Given the description of an element on the screen output the (x, y) to click on. 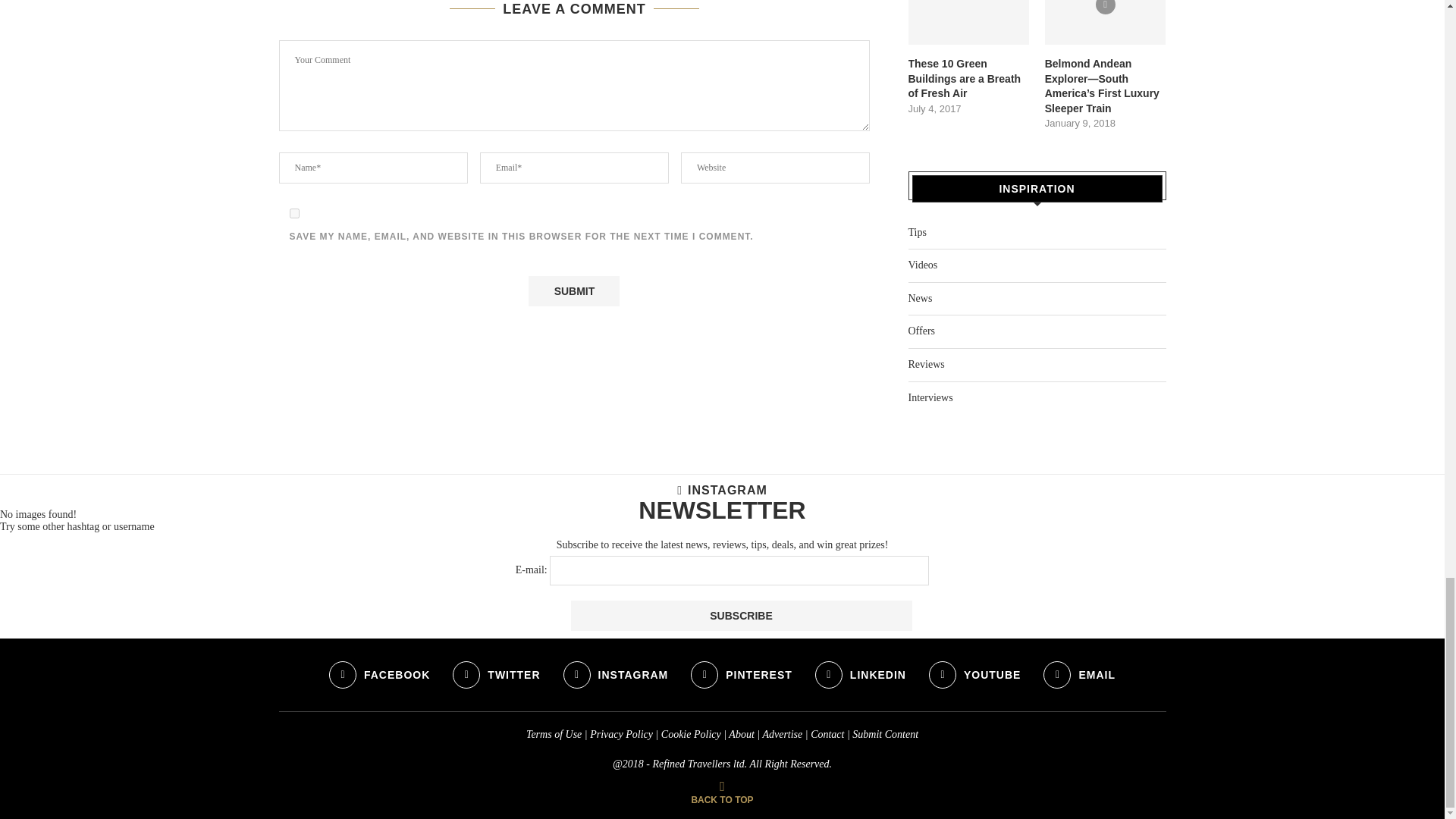
yes (294, 213)
Submit (574, 291)
Subscribe (740, 615)
